Given the description of an element on the screen output the (x, y) to click on. 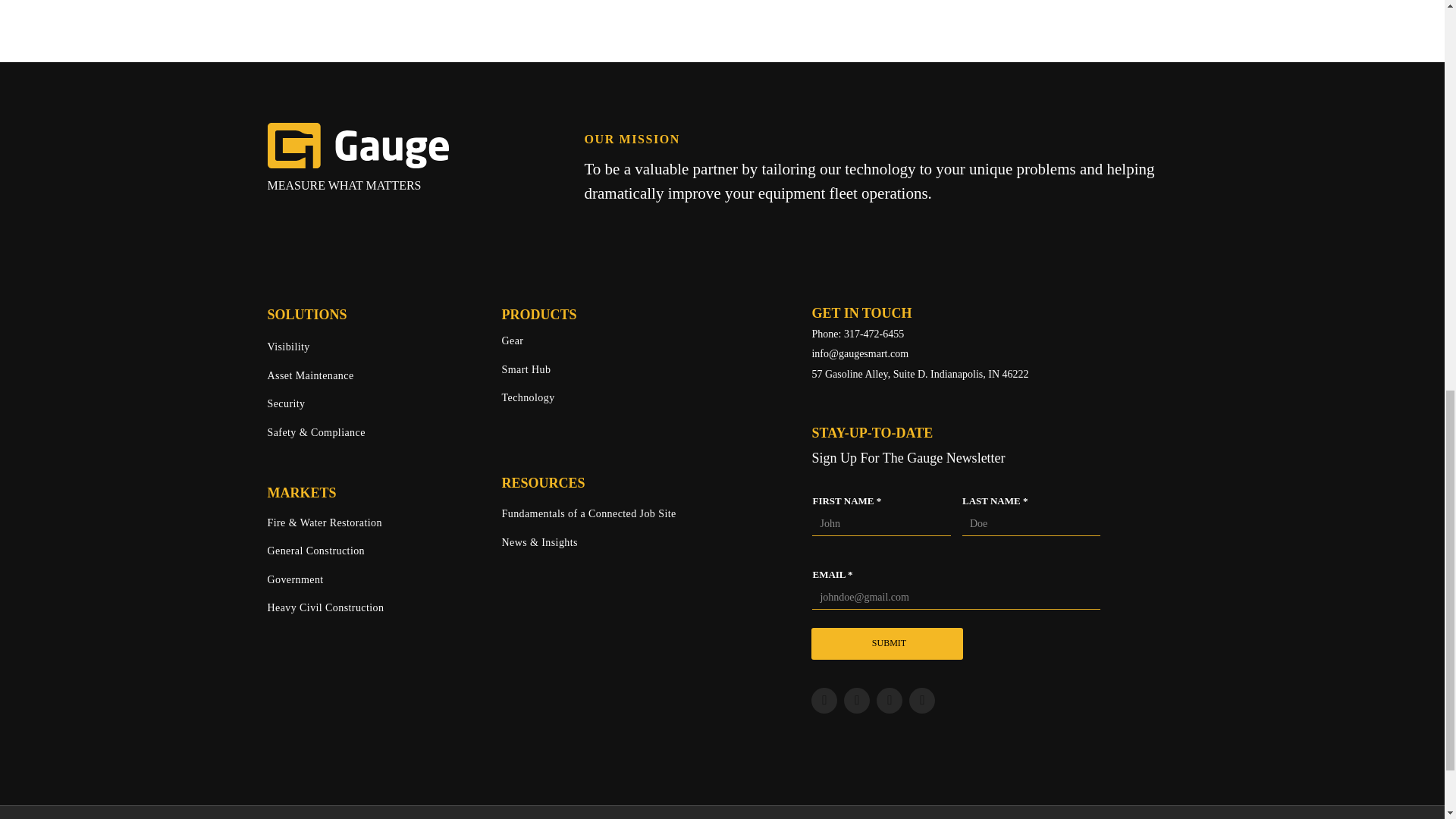
Gauge (357, 145)
SUBMIT (887, 642)
